Given the description of an element on the screen output the (x, y) to click on. 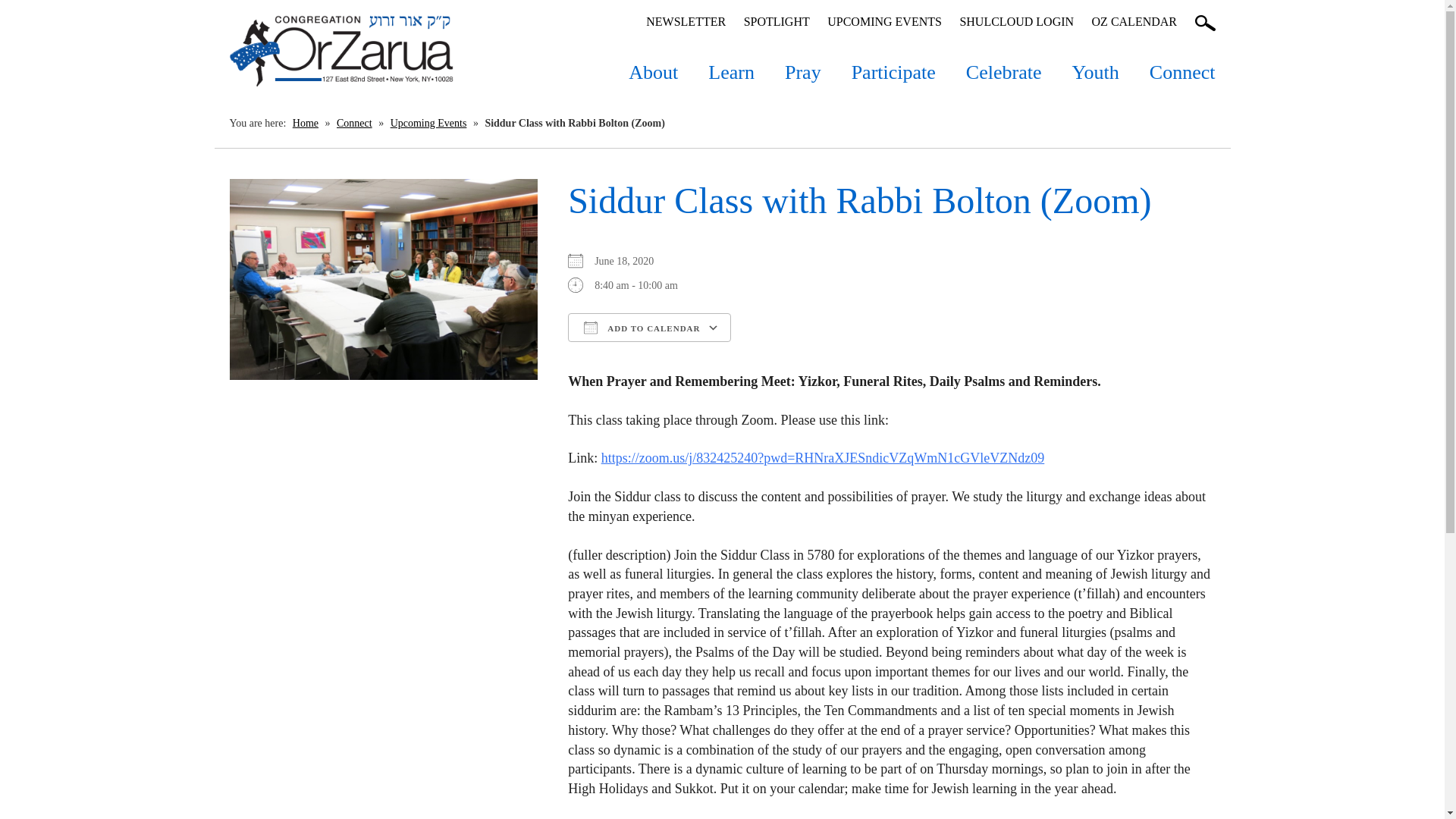
About (652, 65)
UPCOMING EVENTS (884, 21)
SPOTLIGHT (776, 21)
OZ CALENDAR (1134, 21)
Return to the homepage (340, 50)
Participate (892, 65)
Pray (802, 65)
SHULCLOUD LOGIN (1016, 21)
NEWSLETTER (685, 21)
Learn (731, 65)
